Given the description of an element on the screen output the (x, y) to click on. 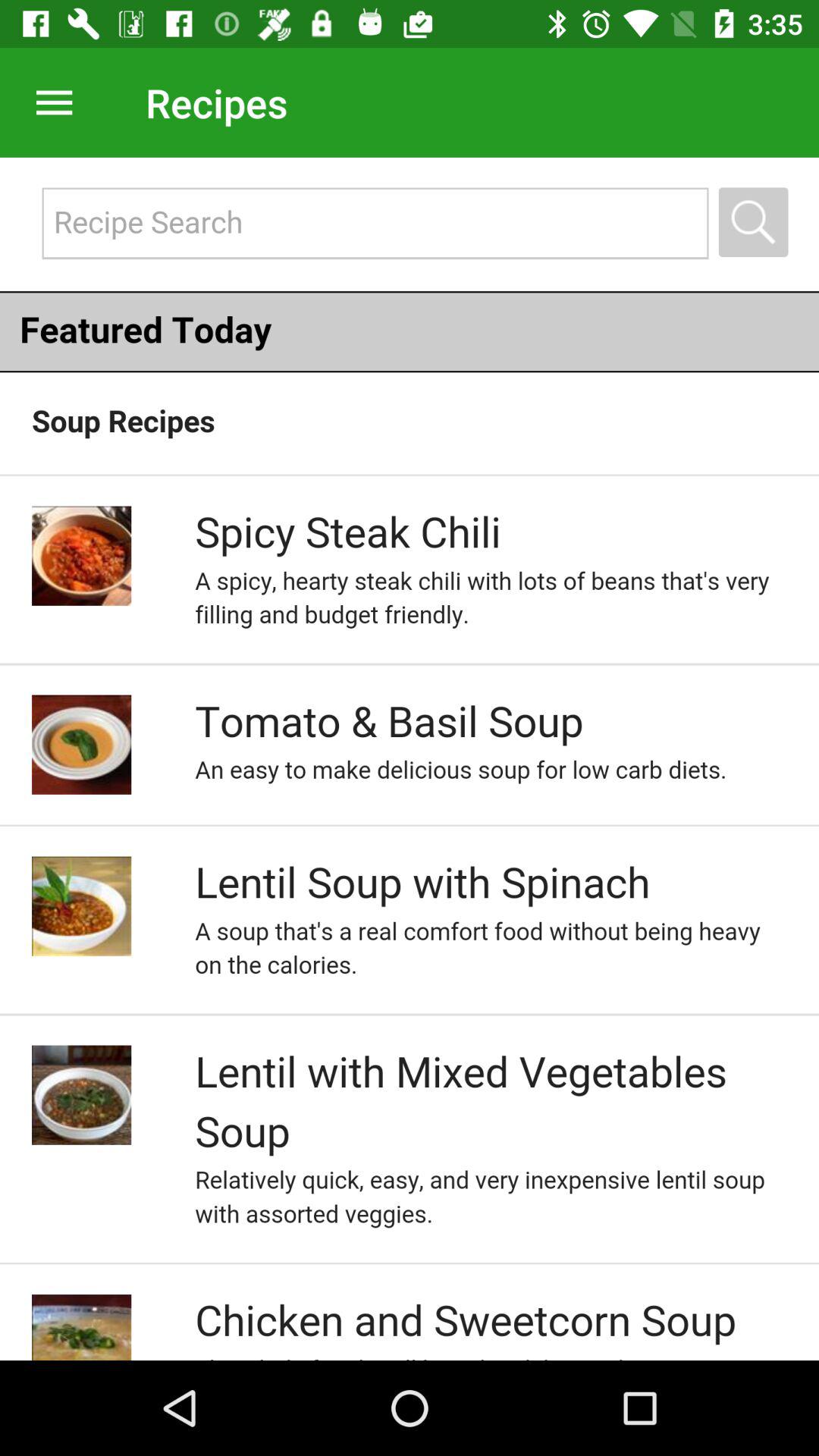
recipe page (409, 758)
